Given the description of an element on the screen output the (x, y) to click on. 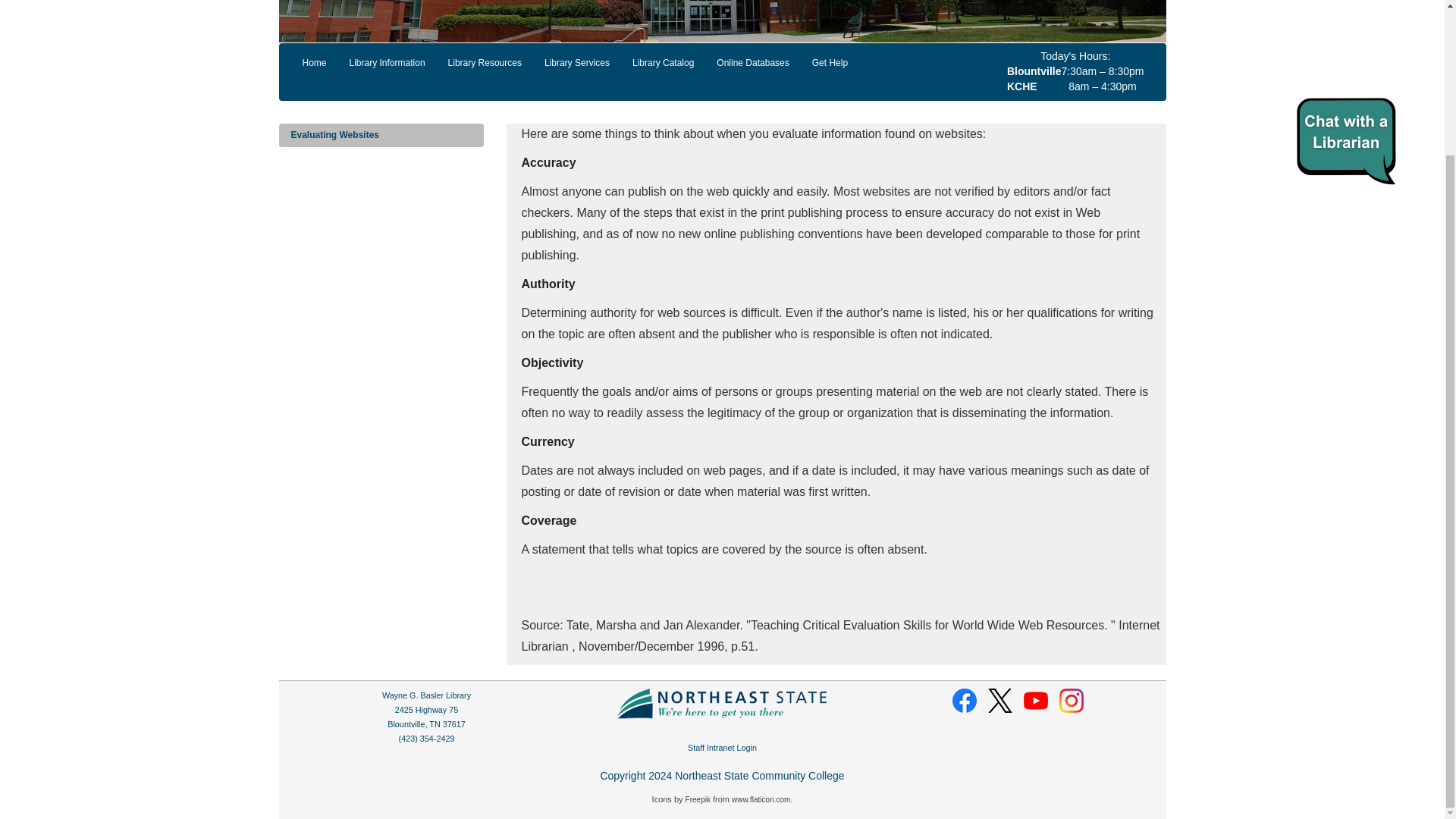
Get Help (829, 62)
Flaticon.com (761, 799)
Library Information (386, 62)
www.flaticon.com (761, 799)
Library Catalog (662, 62)
Online Databases (751, 62)
Library Services (576, 62)
Library Resources (484, 62)
Freepik (697, 799)
Staff Intranet Login (722, 747)
Evaluating Websites (381, 135)
